Given the description of an element on the screen output the (x, y) to click on. 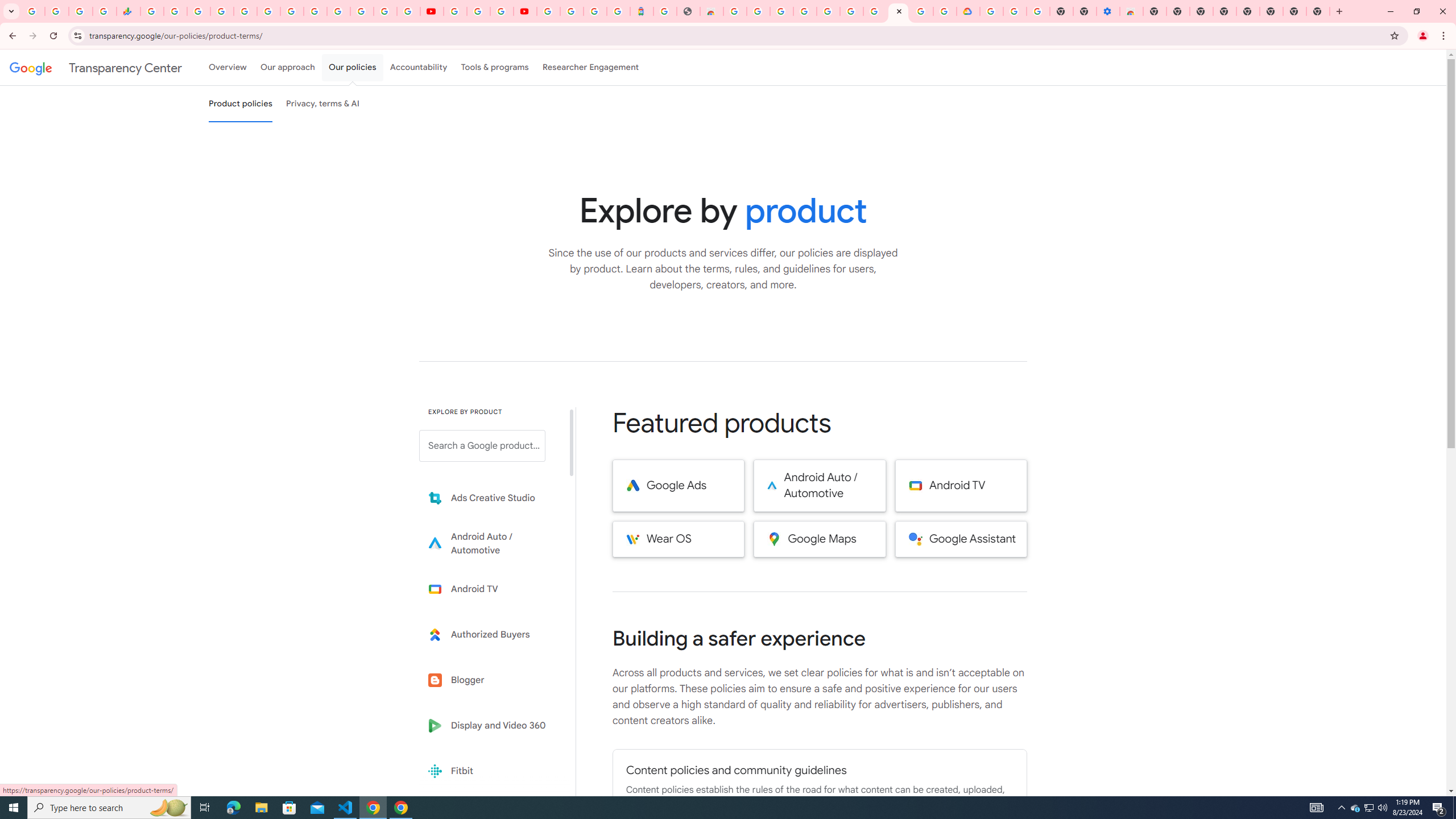
Create your Google Account (501, 11)
Google Maps (820, 538)
Google Ads (678, 485)
YouTube (314, 11)
Privacy Checkup (408, 11)
Our policies (351, 67)
YouTube (454, 11)
Google Workspace Admin Community (32, 11)
Chrome Web Store - Household (711, 11)
Learn more about Android TV (490, 588)
Android TV Policies and Guidelines - Transparency Center (291, 11)
